Given the description of an element on the screen output the (x, y) to click on. 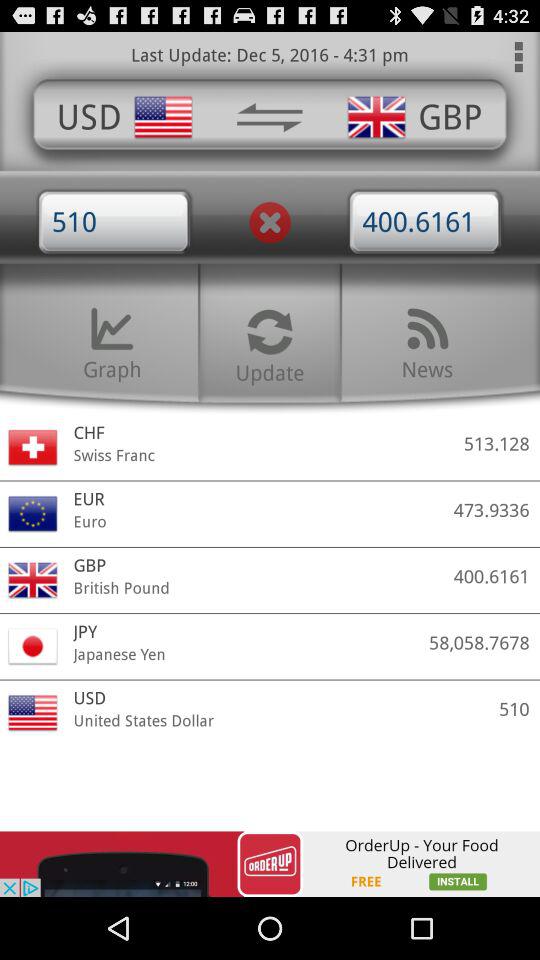
dada (269, 117)
